Given the description of an element on the screen output the (x, y) to click on. 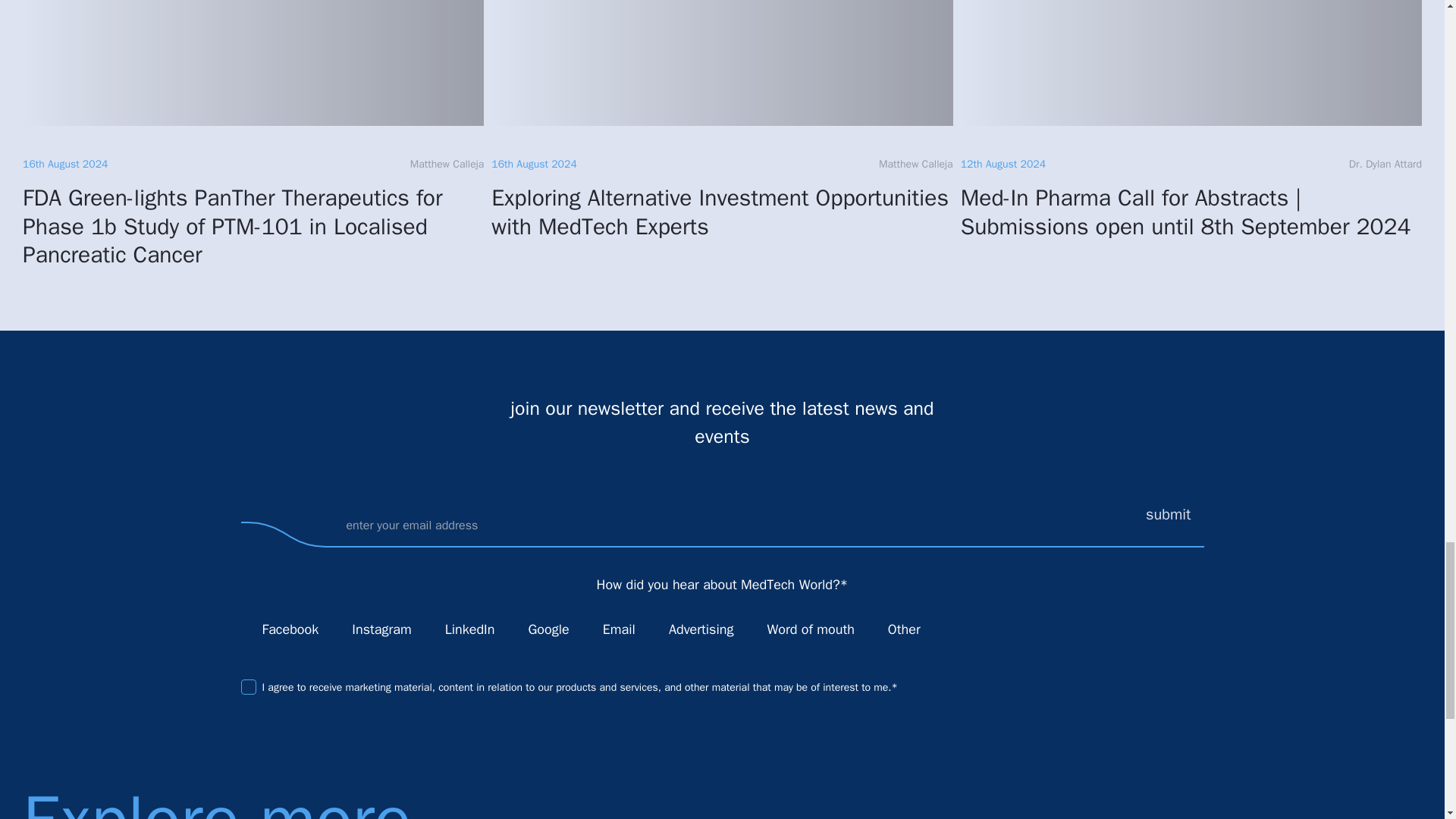
LinkedIn (431, 628)
Email (588, 628)
Google (513, 628)
Colleague (654, 628)
Word of mouth (752, 628)
Other (874, 628)
Facebook (248, 628)
submit (1174, 514)
